Given the description of an element on the screen output the (x, y) to click on. 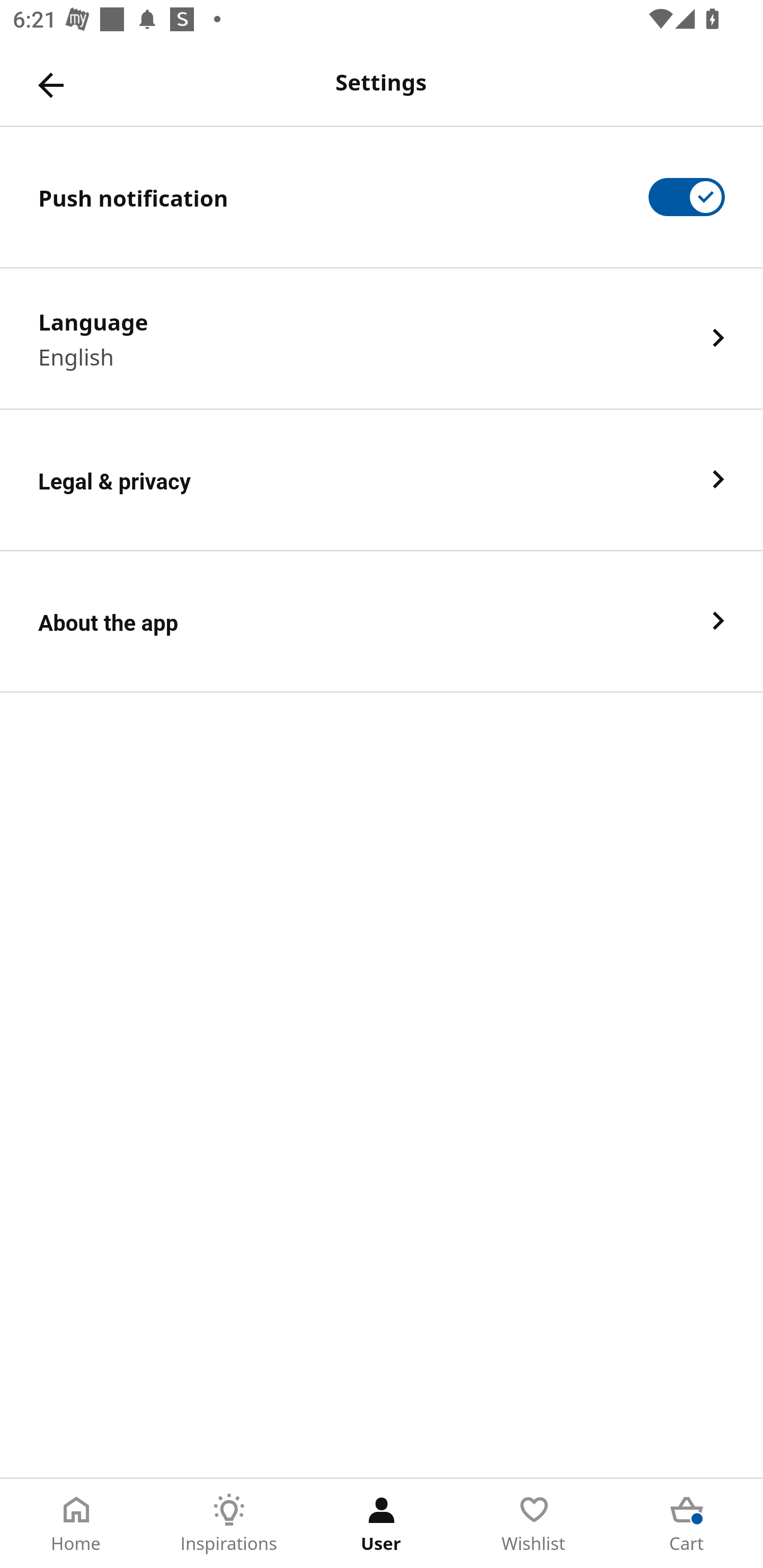
Push notification (381, 196)
Language
English (381, 338)
Legal & privacy (381, 480)
About the app (381, 622)
Home
Tab 1 of 5 (76, 1522)
Inspirations
Tab 2 of 5 (228, 1522)
User
Tab 3 of 5 (381, 1522)
Wishlist
Tab 4 of 5 (533, 1522)
Cart
Tab 5 of 5 (686, 1522)
